Given the description of an element on the screen output the (x, y) to click on. 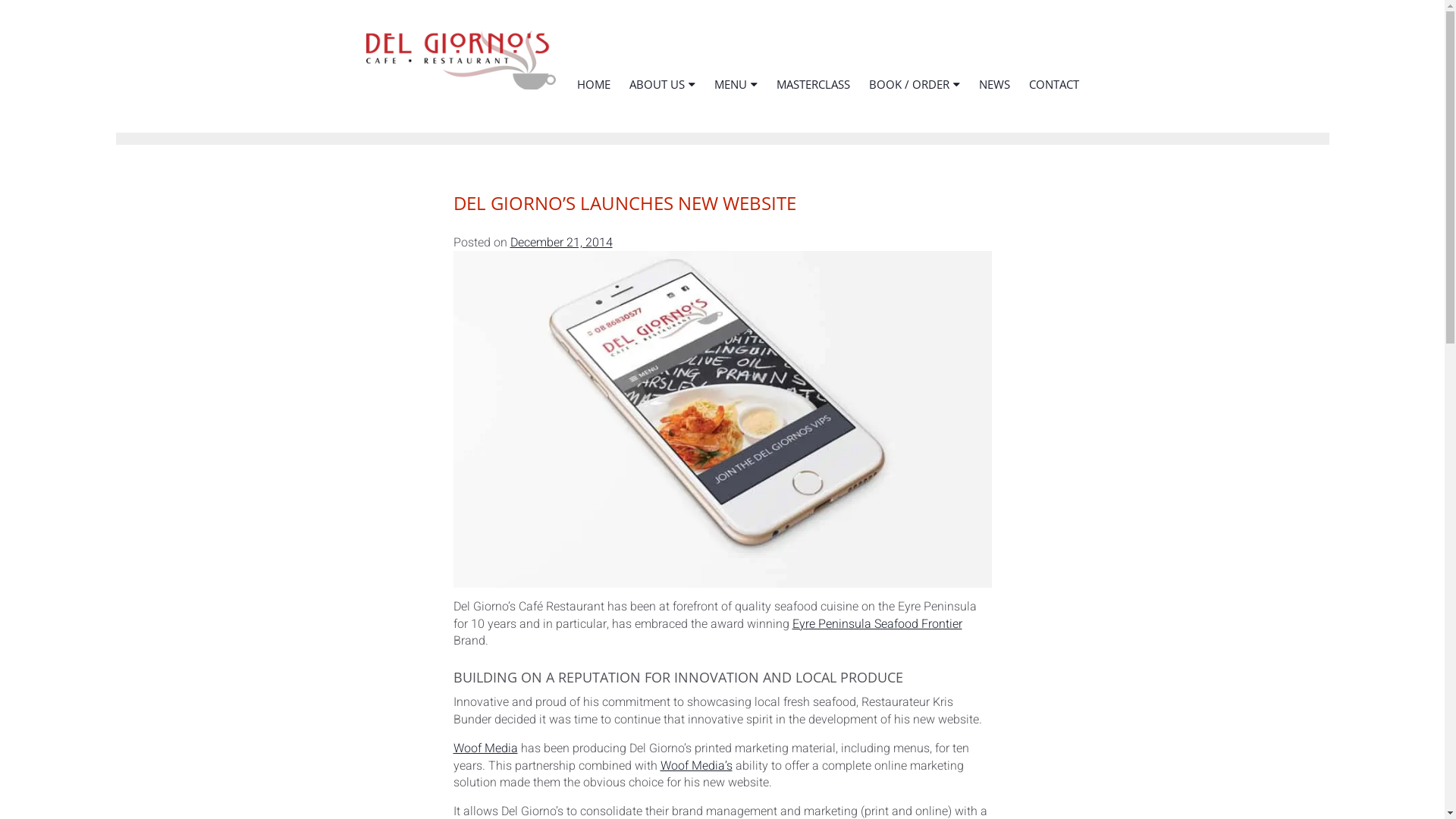
ABOUT US Element type: text (662, 84)
Eyre Peninsula Seafood Frontier Element type: text (876, 624)
NEWS Element type: text (993, 84)
HOME Element type: text (592, 84)
Woof Media Element type: text (485, 748)
BOOK / ORDER Element type: text (914, 84)
MASTERCLASS Element type: text (813, 84)
MENU Element type: text (735, 84)
CONTACT Element type: text (1053, 84)
December 21, 2014 Element type: text (560, 242)
